Given the description of an element on the screen output the (x, y) to click on. 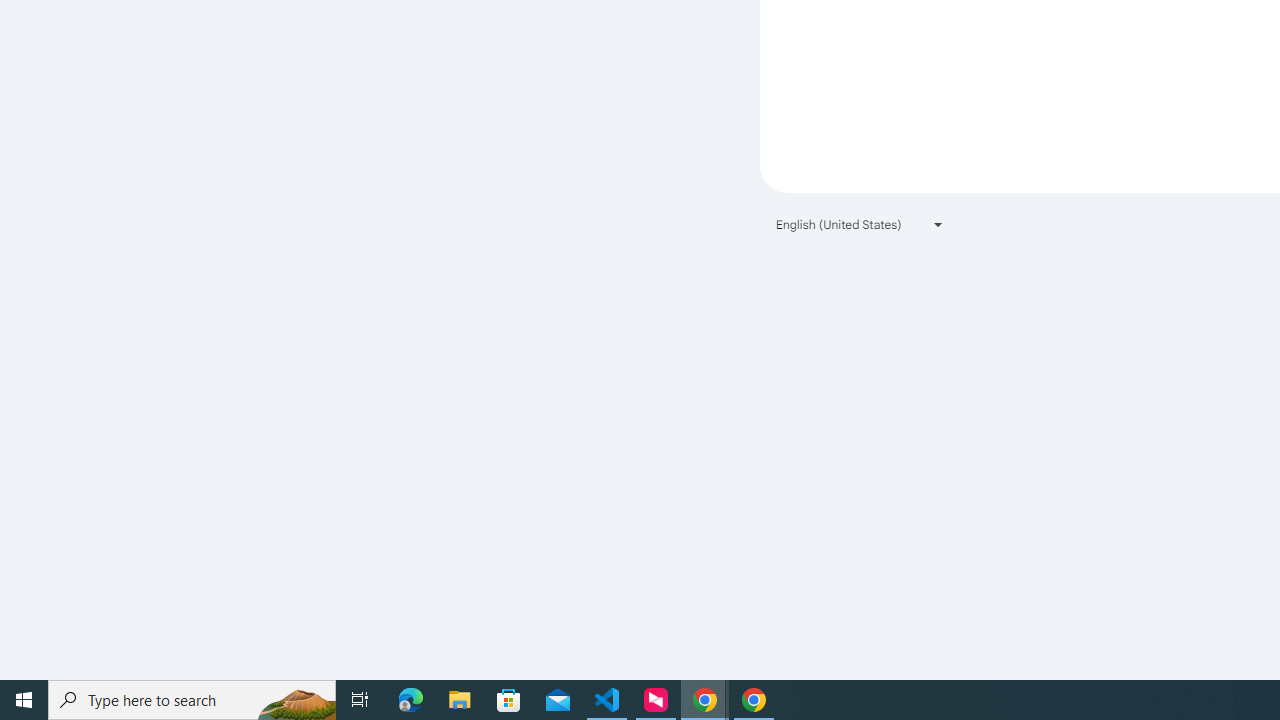
English (United States) (860, 224)
